Given the description of an element on the screen output the (x, y) to click on. 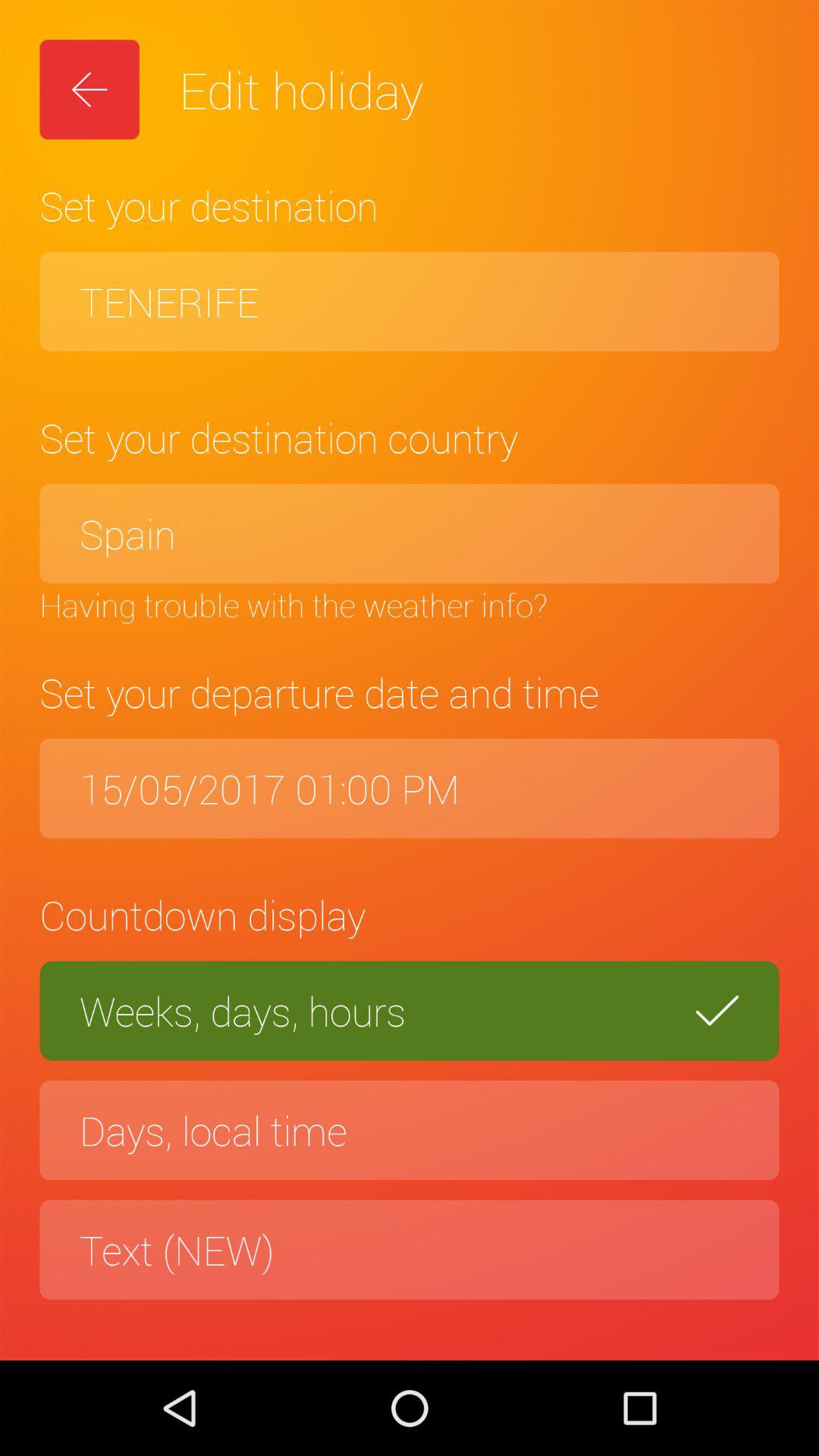
flip to 15 05 2017 icon (409, 788)
